Given the description of an element on the screen output the (x, y) to click on. 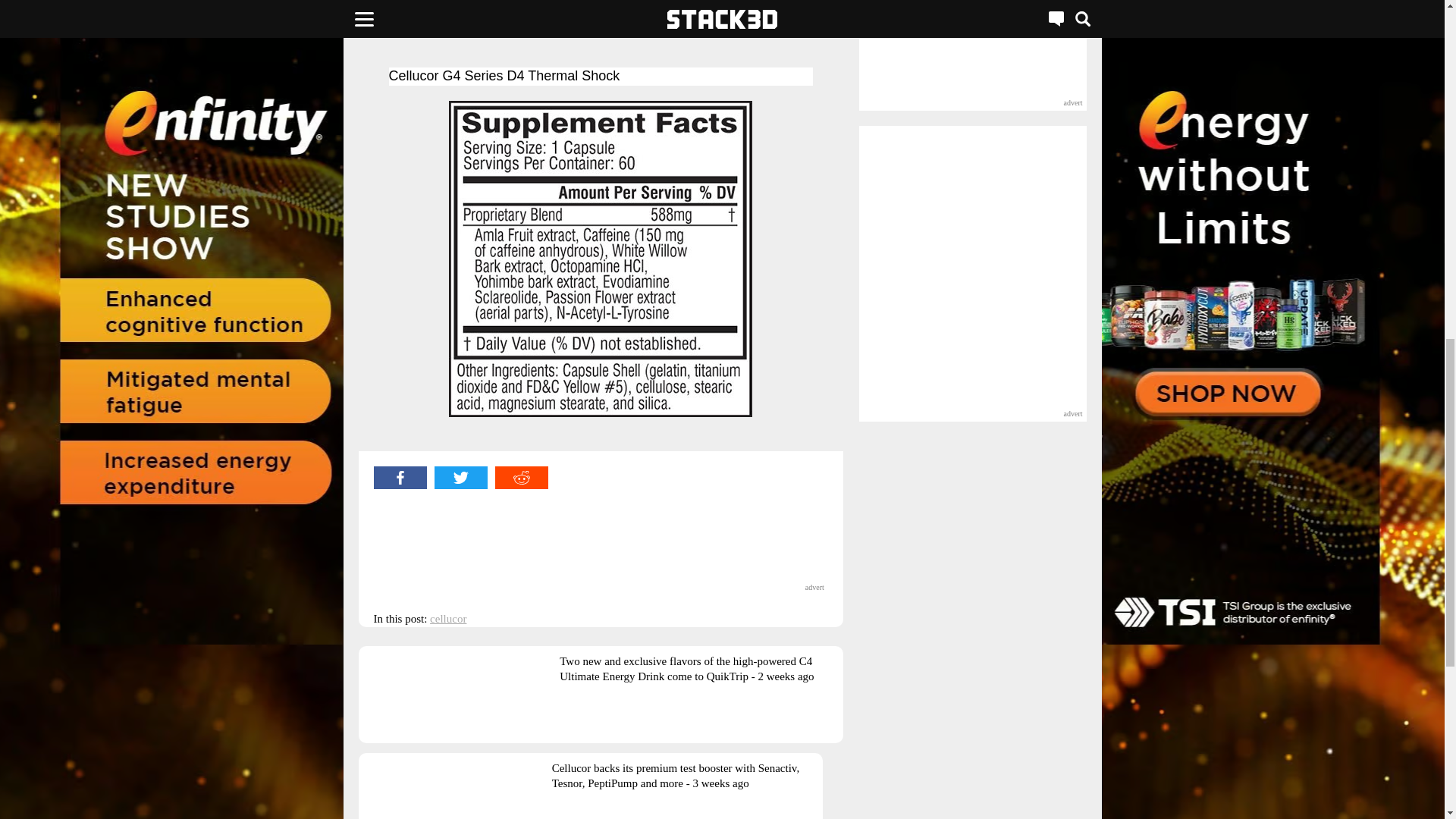
available direct (593, 6)
cellucor (447, 618)
